Given the description of an element on the screen output the (x, y) to click on. 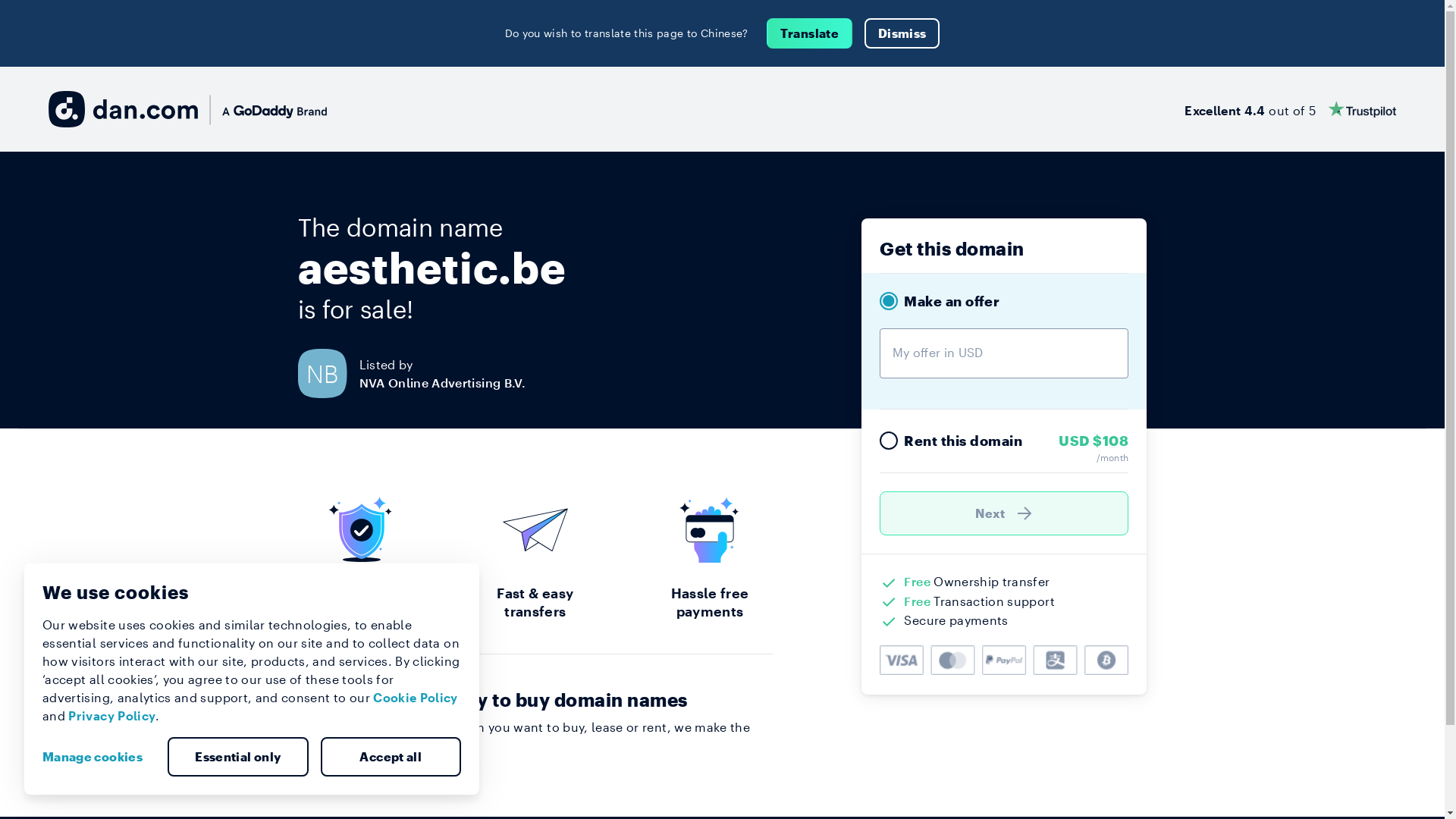
Cookie Policy Element type: text (415, 697)
Privacy Policy Element type: text (111, 715)
Accept all Element type: text (390, 756)
Excellent 4.4 out of 5 Element type: text (1290, 109)
Manage cookies Element type: text (98, 756)
Dismiss Element type: text (901, 33)
Translate Element type: text (809, 33)
Next
) Element type: text (1003, 513)
Essential only Element type: text (237, 756)
